Given the description of an element on the screen output the (x, y) to click on. 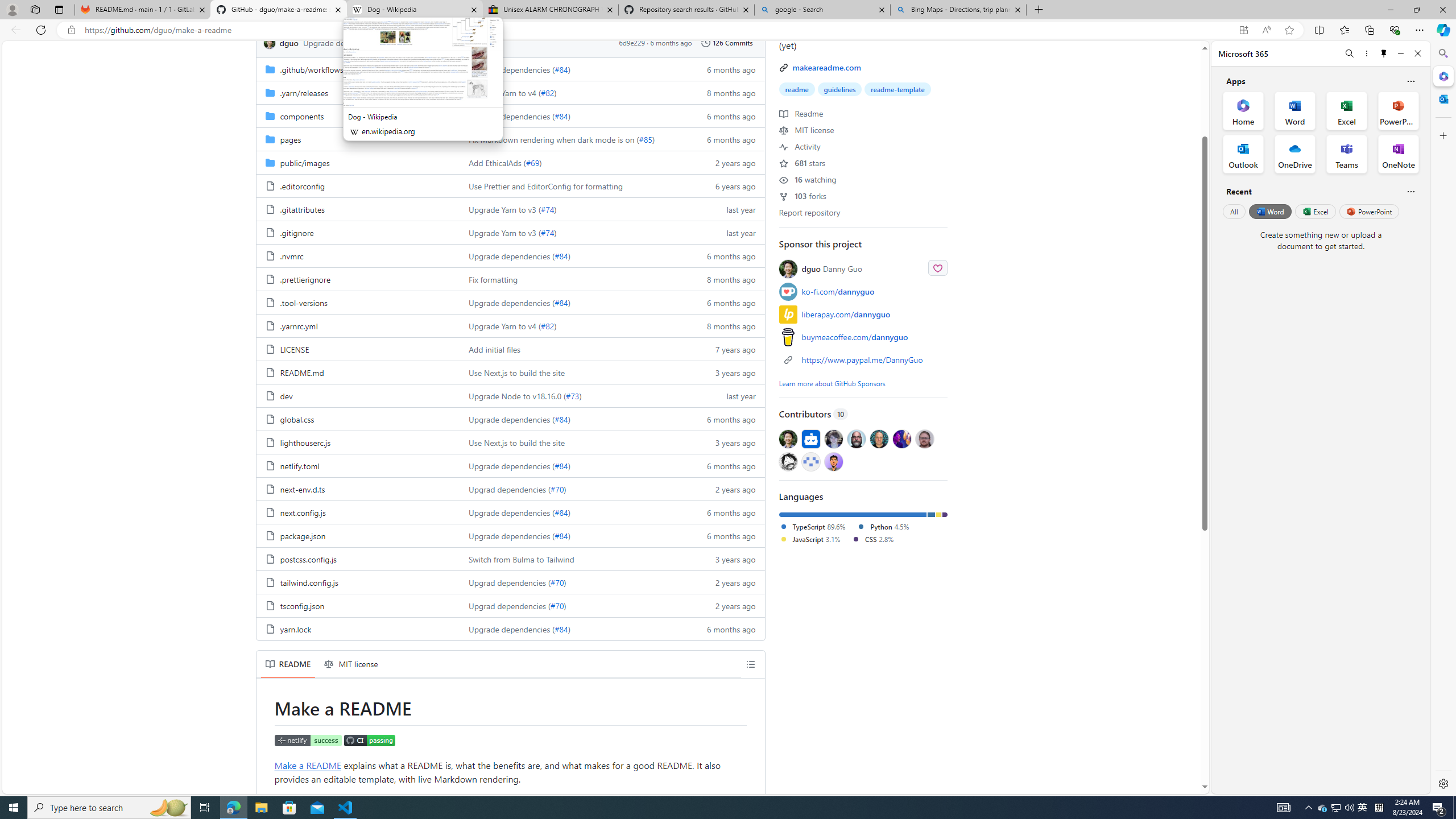
CSS2.8% (876, 539)
yarn.lock, (File) (358, 628)
Back (13, 29)
readme (796, 88)
ko-fi.com/dannyguo (862, 290)
Add initial files (573, 348)
6 months ago (725, 628)
@sy-records (787, 461)
tailwind.config.js, (File) (308, 582)
success (437, 42)
Outlook (1442, 98)
16 watching (807, 179)
@paul-hammant (878, 438)
README.md, (File) (358, 372)
